Given the description of an element on the screen output the (x, y) to click on. 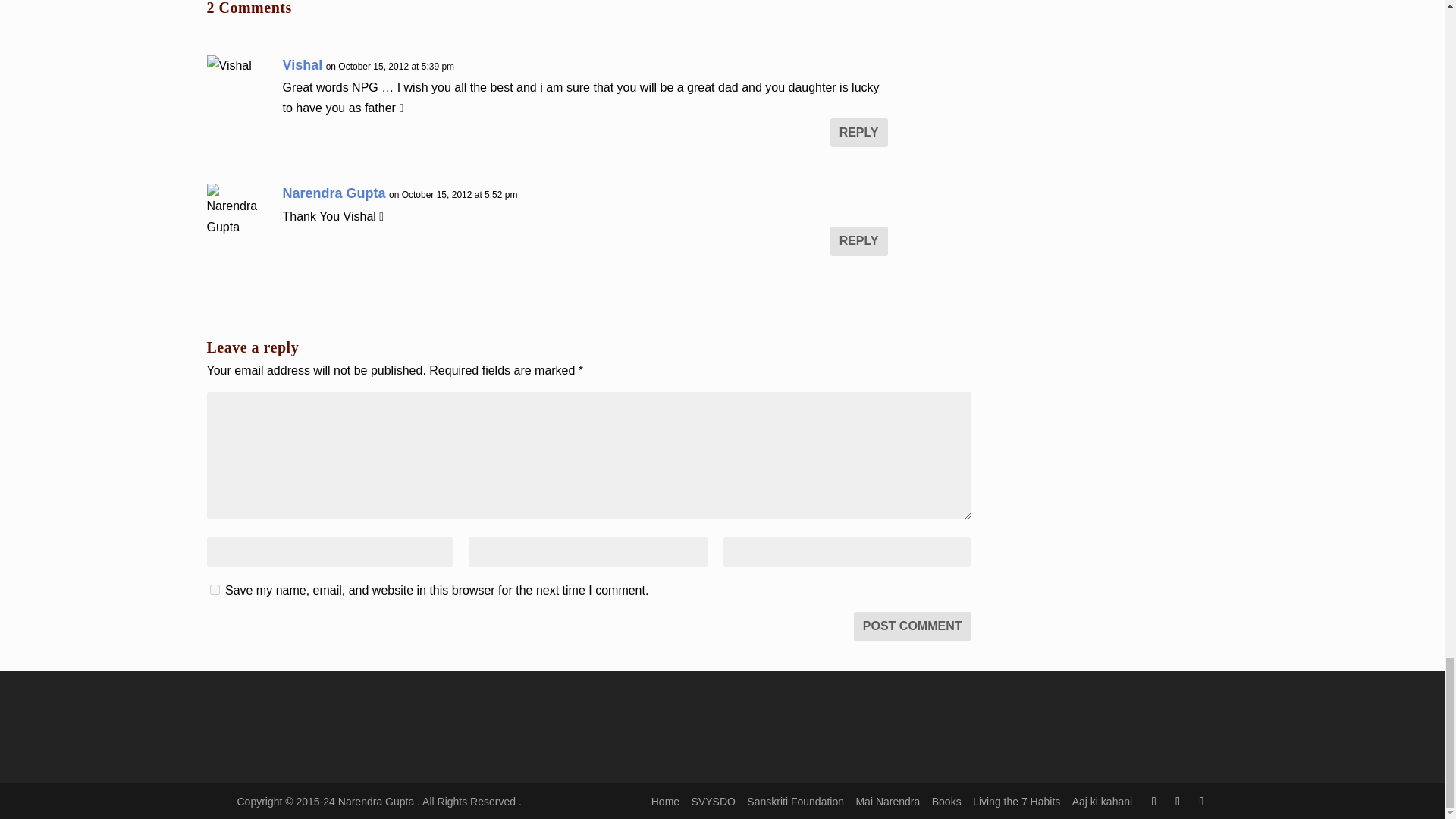
yes (214, 589)
Post Comment (912, 625)
REPLY (858, 132)
Vishal (301, 64)
